Given the description of an element on the screen output the (x, y) to click on. 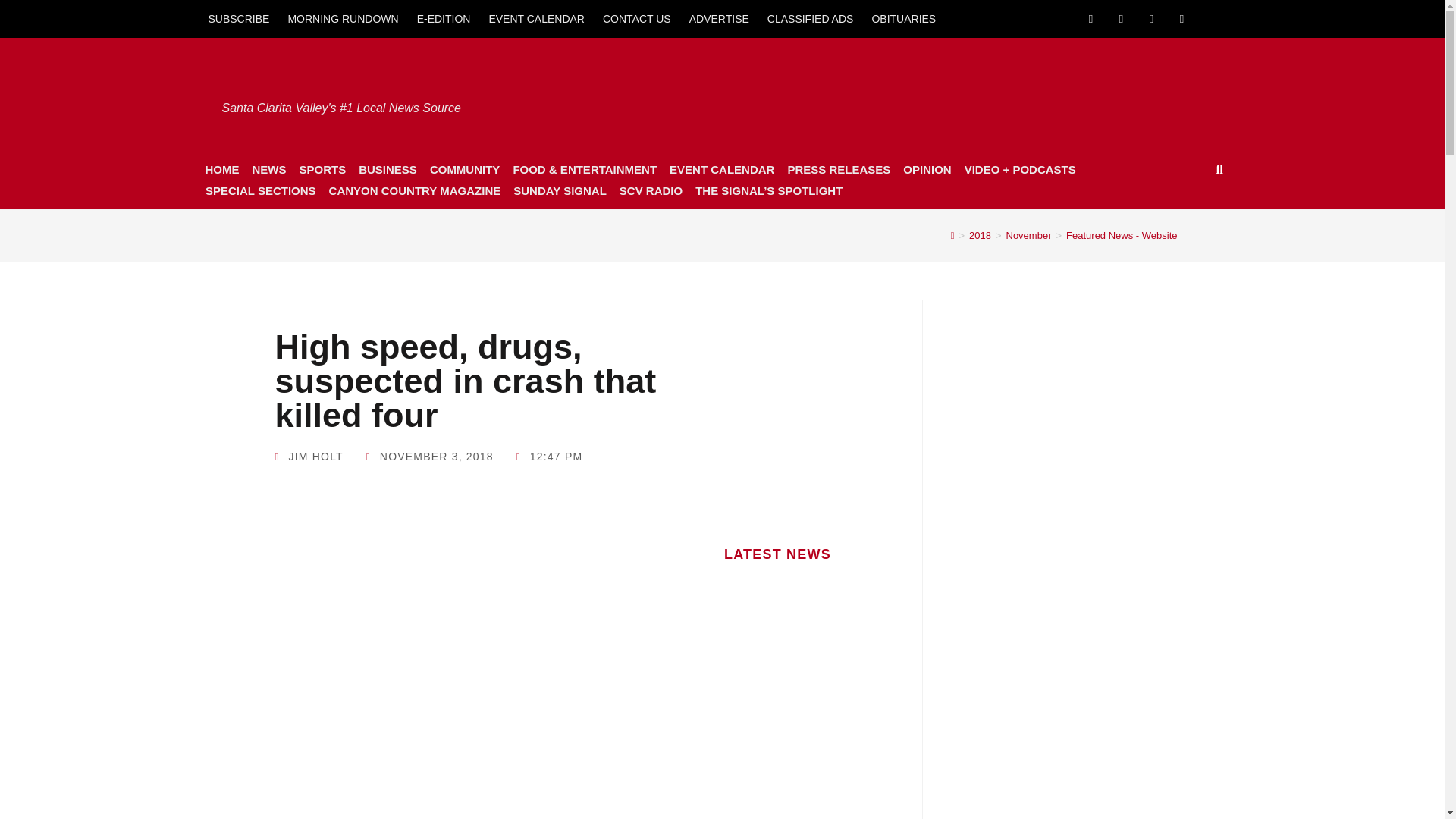
EVENT CALENDAR (536, 18)
MORNING RUNDOWN (342, 18)
CONTACT US (636, 18)
OBITUARIES (902, 18)
CLASSIFIED ADS (810, 18)
E-EDITION (443, 18)
SUBSCRIBE (238, 18)
HOME (221, 169)
SPORTS (322, 169)
ADVERTISE (718, 18)
NEWS (269, 169)
